Given the description of an element on the screen output the (x, y) to click on. 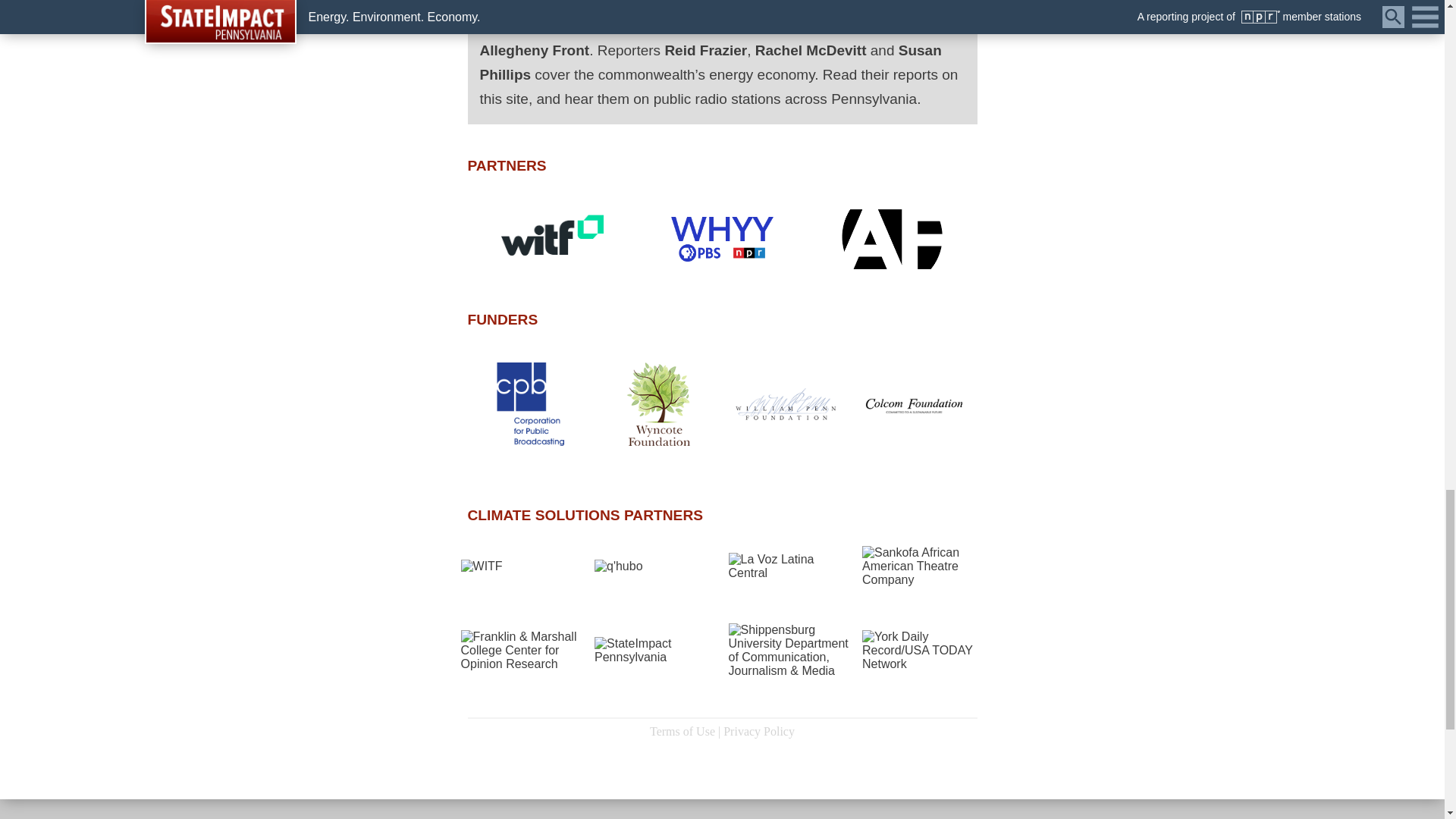
The Allegheny Front (891, 238)
WITF (827, 26)
WHYY (722, 239)
WHYY (874, 26)
Wyncote Foundation (658, 403)
Susan Phillips (709, 63)
WITF (551, 238)
William Penn Foundation (785, 404)
Allegheny Front (534, 50)
Corporation for Public Broadcasting (530, 403)
